Given the description of an element on the screen output the (x, y) to click on. 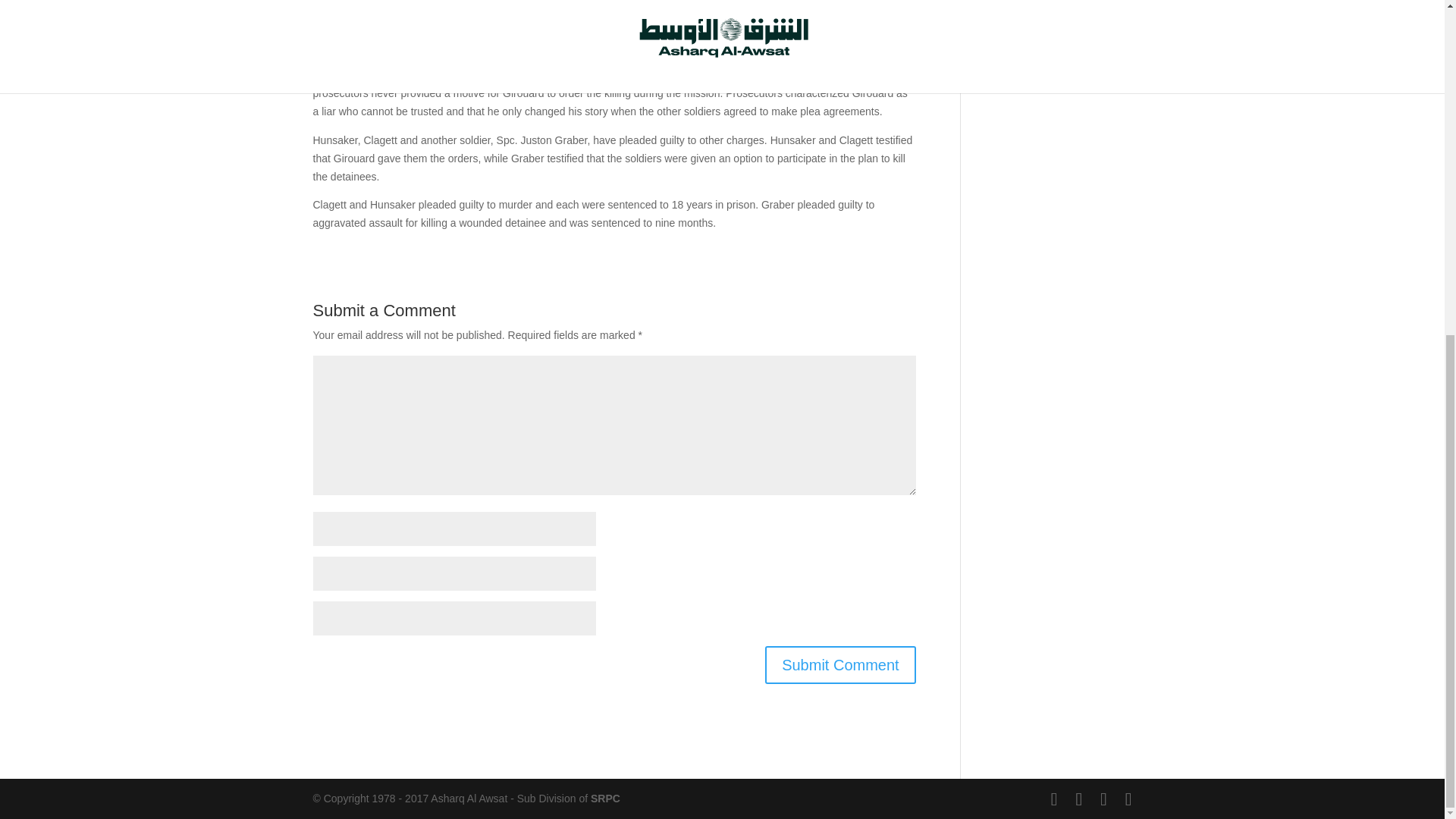
SRPC (605, 798)
Submit Comment (840, 664)
Submit Comment (840, 664)
